Given the description of an element on the screen output the (x, y) to click on. 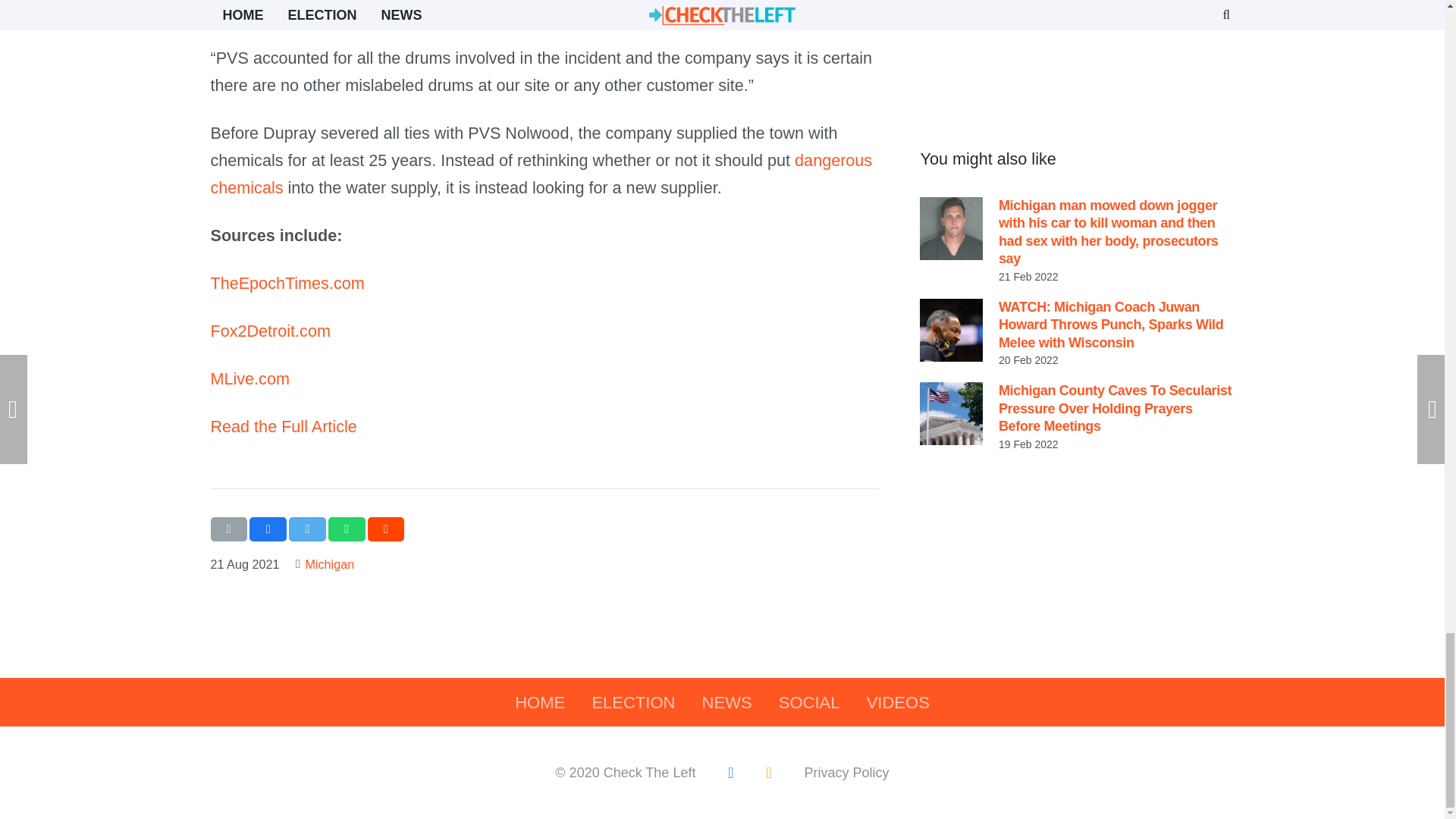
dangerous chemicals (541, 173)
MLive.com (250, 378)
Michigan (328, 563)
Fox2Detroit.com (270, 330)
Share this (267, 528)
Read the Full Article (283, 425)
Tweet this (307, 528)
Share this (347, 528)
Email this (229, 528)
Share this (386, 528)
